Given the description of an element on the screen output the (x, y) to click on. 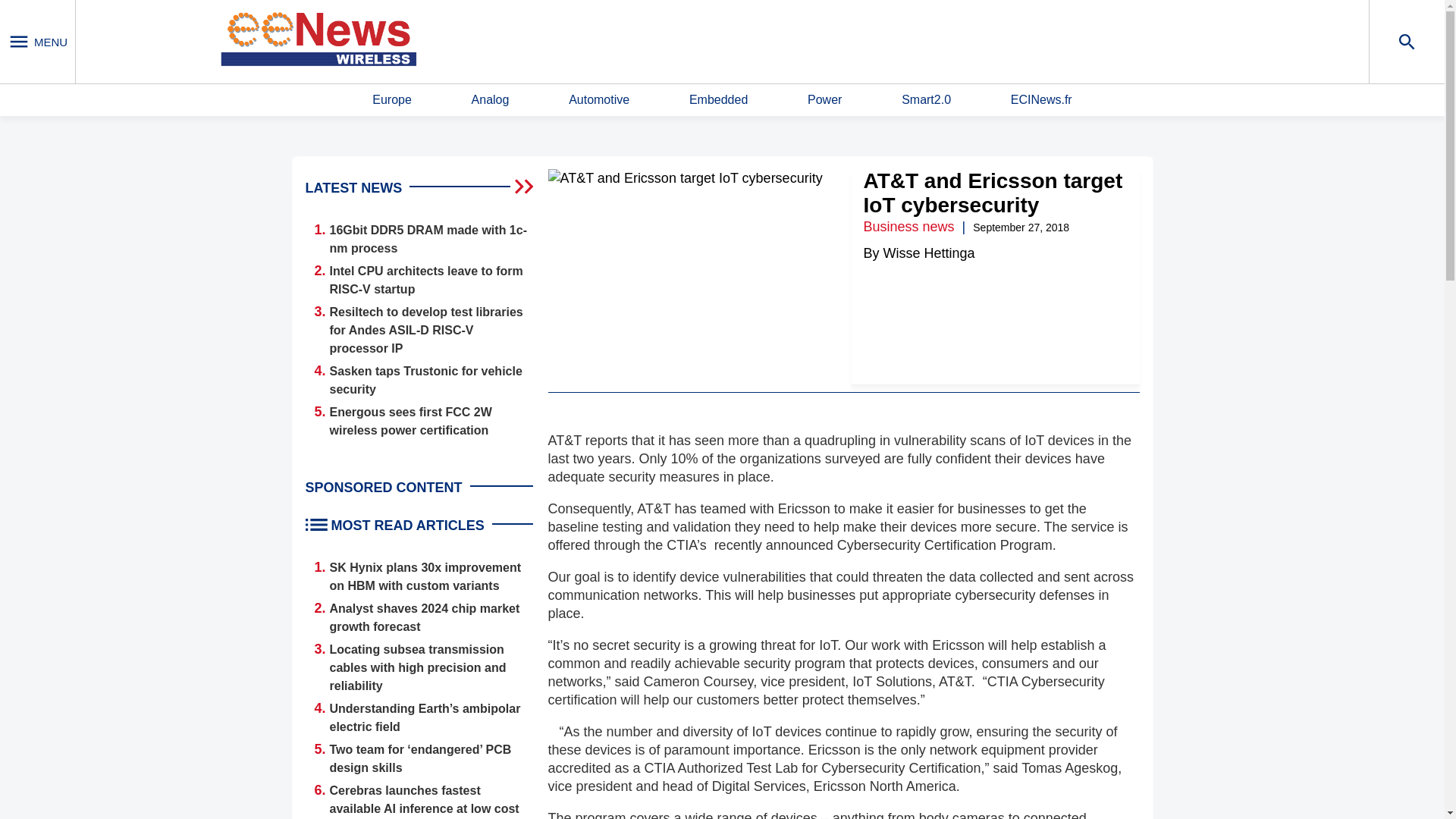
Europe (392, 99)
Analog (490, 99)
Power (824, 99)
Automotive (598, 99)
ECINews.fr (1040, 99)
Embedded (718, 99)
Smart2.0 (925, 99)
